Given the description of an element on the screen output the (x, y) to click on. 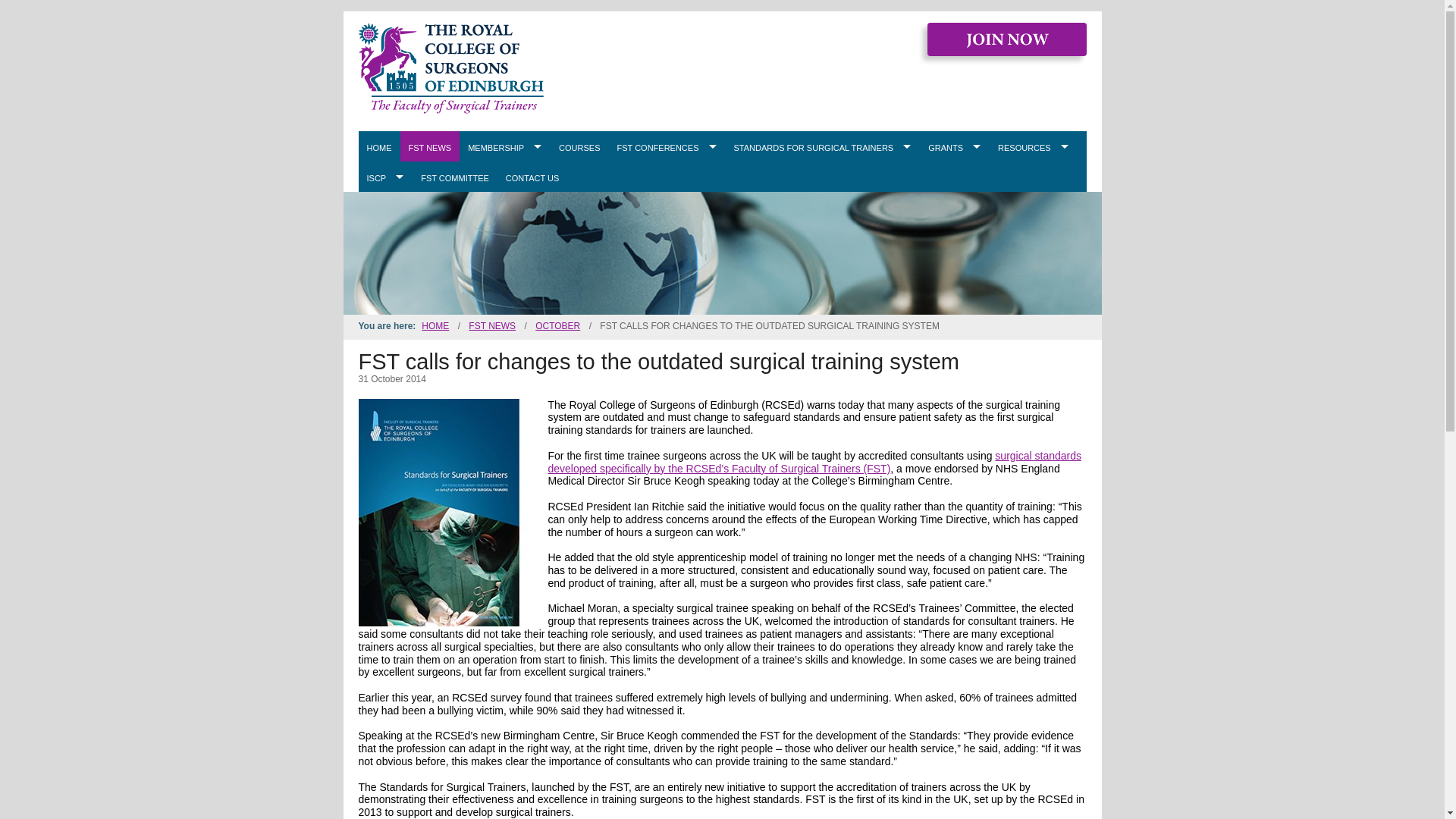
The Faculty of Surgical Trainers, FST - Home (450, 68)
COURSES (579, 146)
FST NEWS (430, 146)
HOME (378, 146)
RESOURCES (1033, 146)
Join the Faculty of Surgical Trainers (1005, 40)
MEMBERSHIP (505, 146)
FST CONFERENCES (666, 146)
GRANTS (955, 146)
ISCP (385, 176)
